Given the description of an element on the screen output the (x, y) to click on. 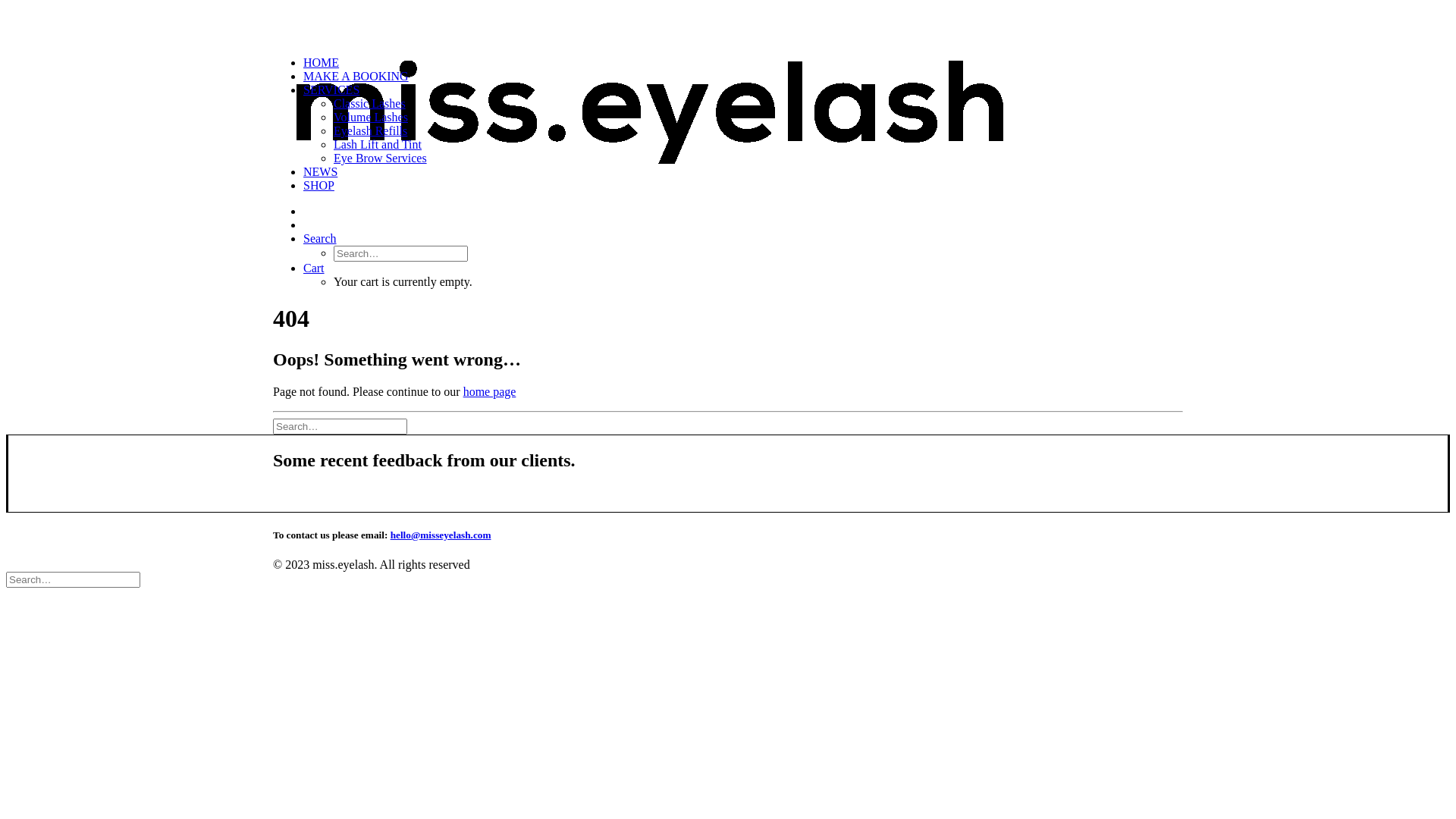
MAKE A BOOKING Element type: text (355, 75)
Search for: Element type: hover (73, 579)
Cart Element type: text (313, 267)
Lash Lift and Tint Element type: text (377, 144)
NEWS Element type: text (320, 171)
SERVICES Element type: text (331, 89)
hello@misseyelash.com Element type: text (440, 534)
home page Element type: text (489, 391)
Search Element type: text (319, 238)
Volume Lashes Element type: text (370, 116)
HOME Element type: text (320, 62)
Eye Brow Services Element type: text (379, 157)
SHOP Element type: text (318, 184)
Eyelash Refills Element type: text (370, 130)
Classic Lashes Element type: text (369, 103)
Search for: Element type: hover (340, 426)
